Given the description of an element on the screen output the (x, y) to click on. 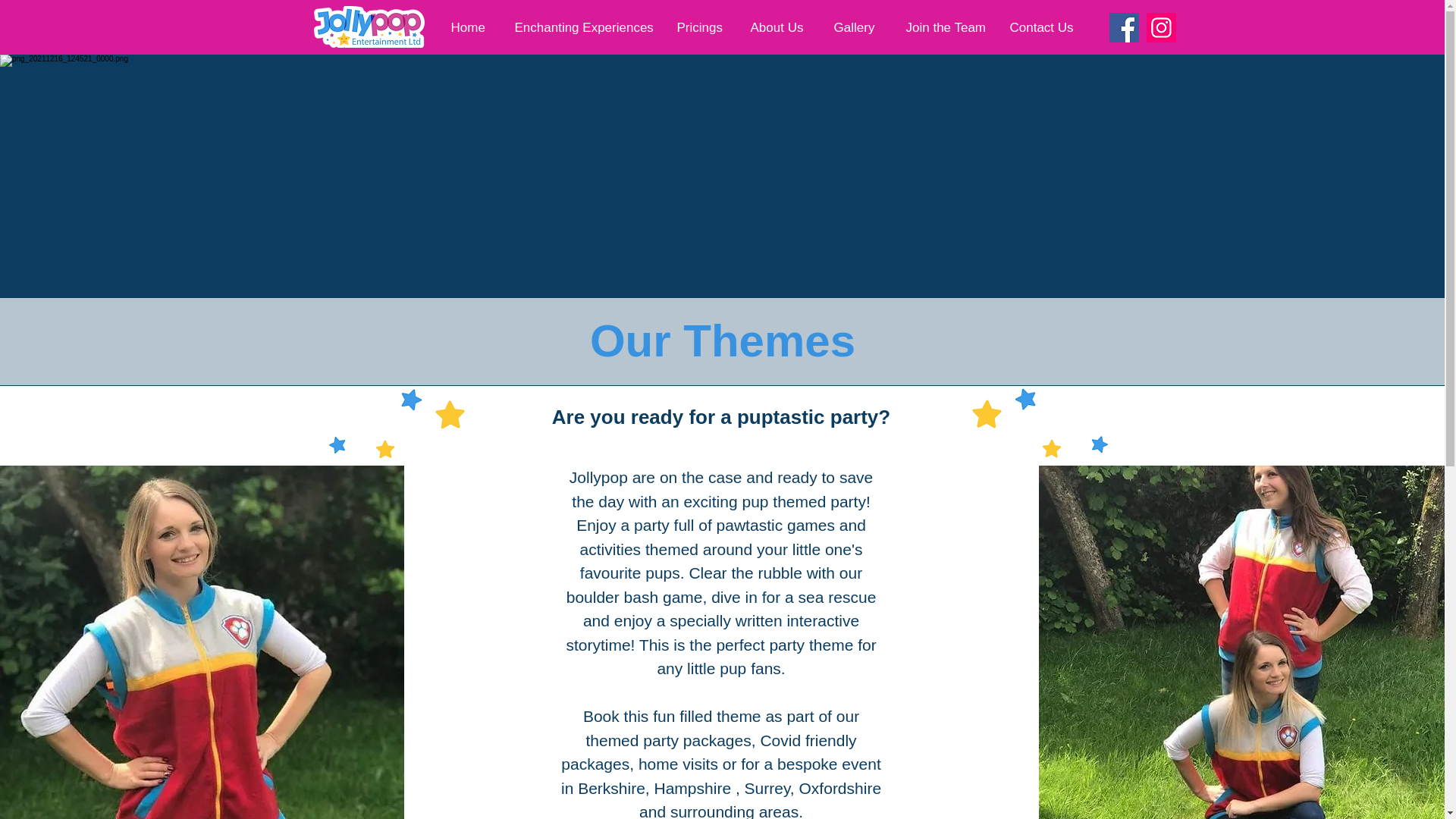
Home (467, 27)
Contact Us (1040, 27)
Gallery (852, 27)
Pricings (698, 27)
Join the Team (941, 27)
